Given the description of an element on the screen output the (x, y) to click on. 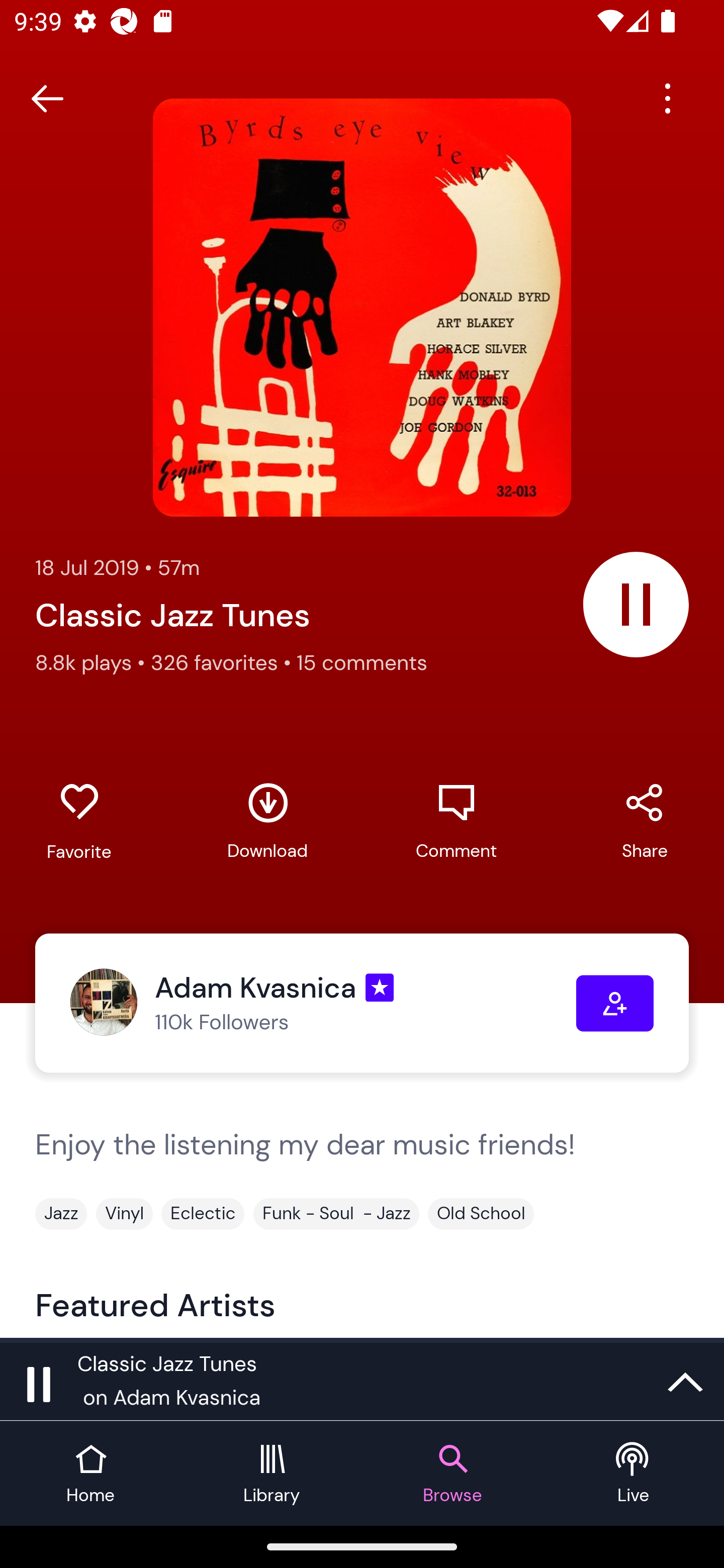
326 favorites •  (223, 662)
15 comments (361, 662)
Favorite (79, 821)
Download (267, 821)
Comment (455, 821)
Share (644, 821)
Follow (614, 1003)
Enjoy the listening my dear music friends! (361, 1161)
Jazz (60, 1213)
Vinyl (124, 1213)
Eclectic (202, 1213)
Funk - Soul  - Jazz (336, 1213)
Old School (480, 1213)
Home tab Home (90, 1473)
Library tab Library (271, 1473)
Browse tab Browse (452, 1473)
Live tab Live (633, 1473)
